Given the description of an element on the screen output the (x, y) to click on. 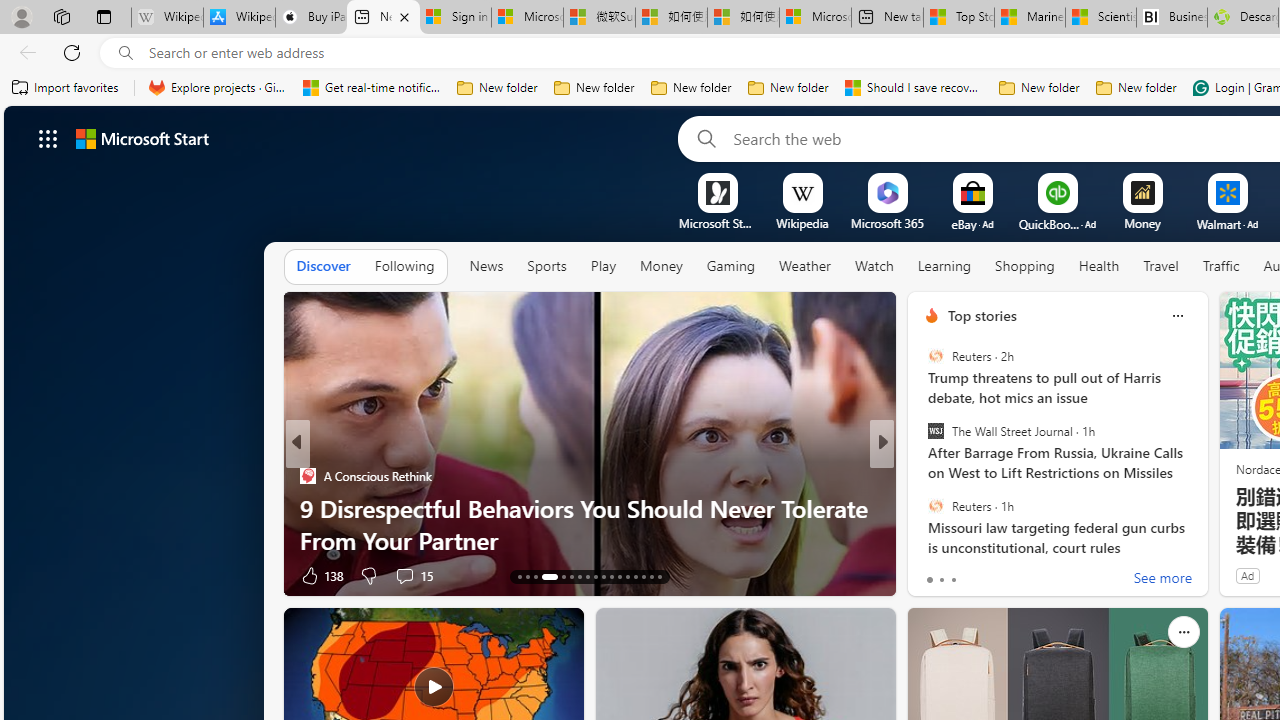
The Register (923, 507)
AutomationID: tab-17 (557, 576)
27 Like (934, 574)
AutomationID: tab-15 (535, 576)
View comments 30 Comment (404, 575)
Reuters (935, 505)
tab-0 (928, 579)
tab-1 (941, 579)
Search icon (125, 53)
